Given the description of an element on the screen output the (x, y) to click on. 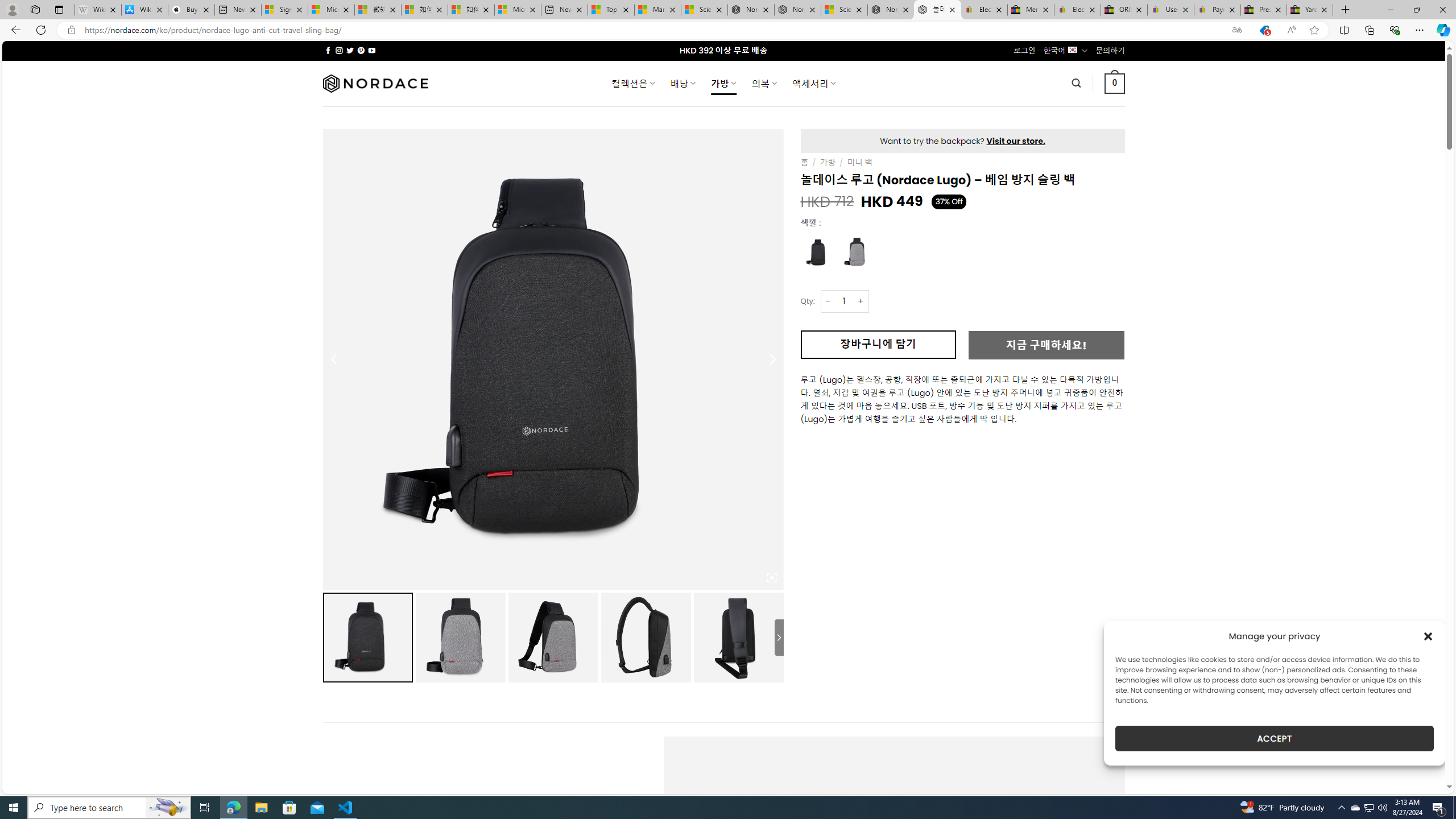
Follow on Facebook (327, 50)
 0  (1115, 83)
